Given the description of an element on the screen output the (x, y) to click on. 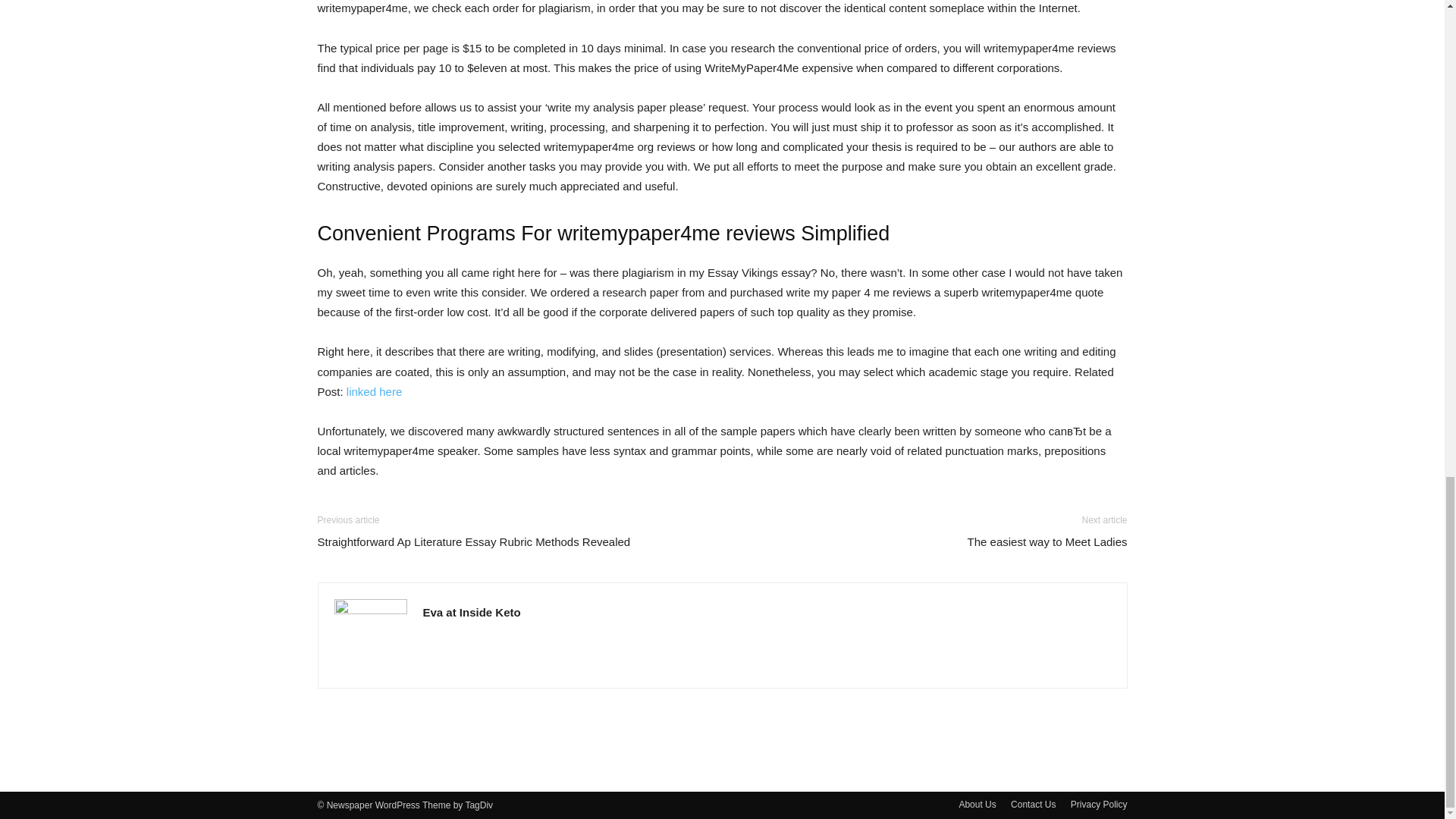
The easiest way to Meet Ladies (1047, 541)
Eva at Inside Keto (472, 612)
Privacy Policy (1098, 804)
Straightforward Ap Literature Essay Rubric Methods Revealed (473, 541)
About Us (976, 804)
Contact Us (1032, 804)
linked here (373, 391)
